Given the description of an element on the screen output the (x, y) to click on. 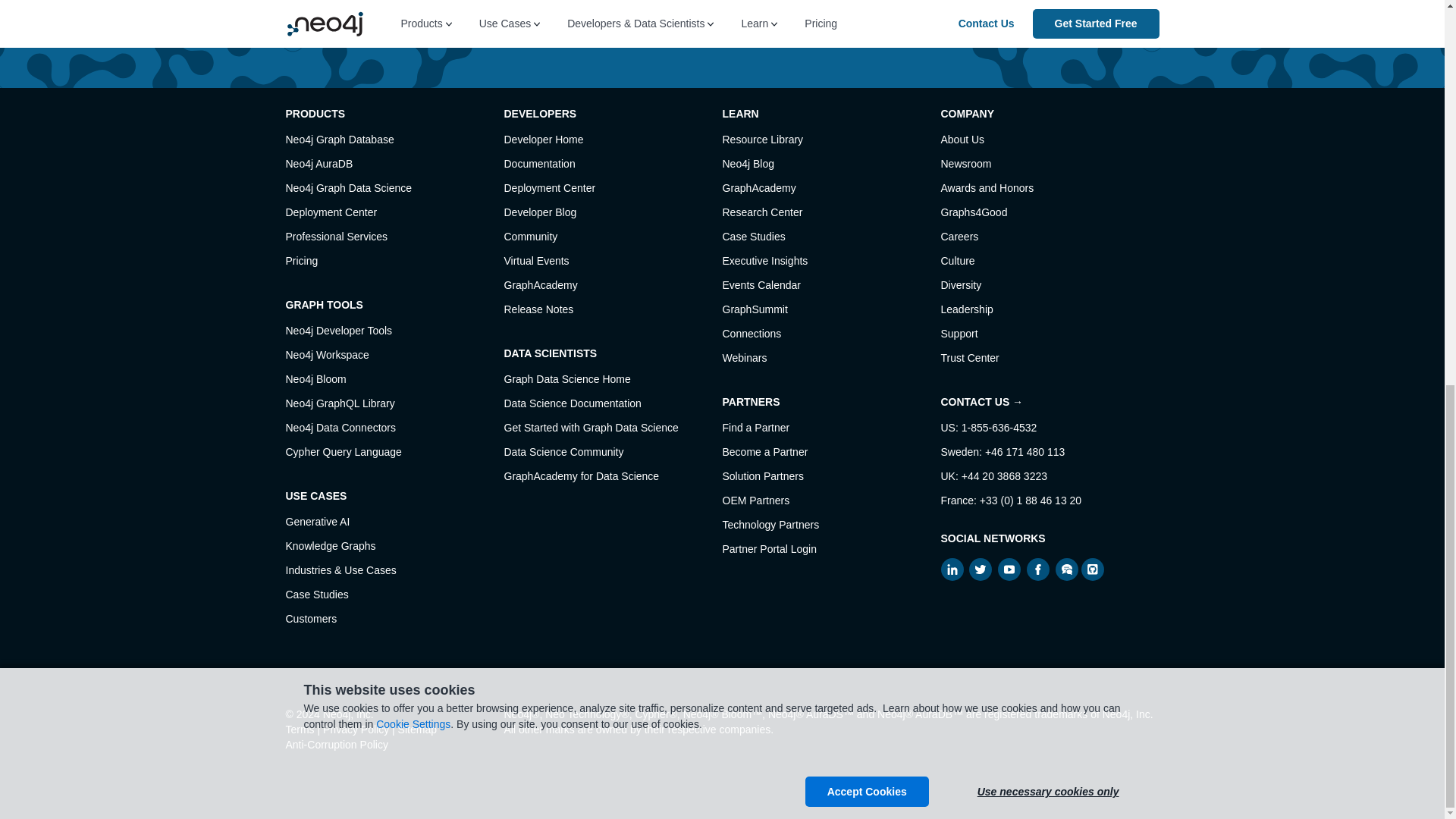
Cookie Settings (412, 2)
Use necessary cookies only (1048, 65)
Accept Cookies (866, 65)
